Given the description of an element on the screen output the (x, y) to click on. 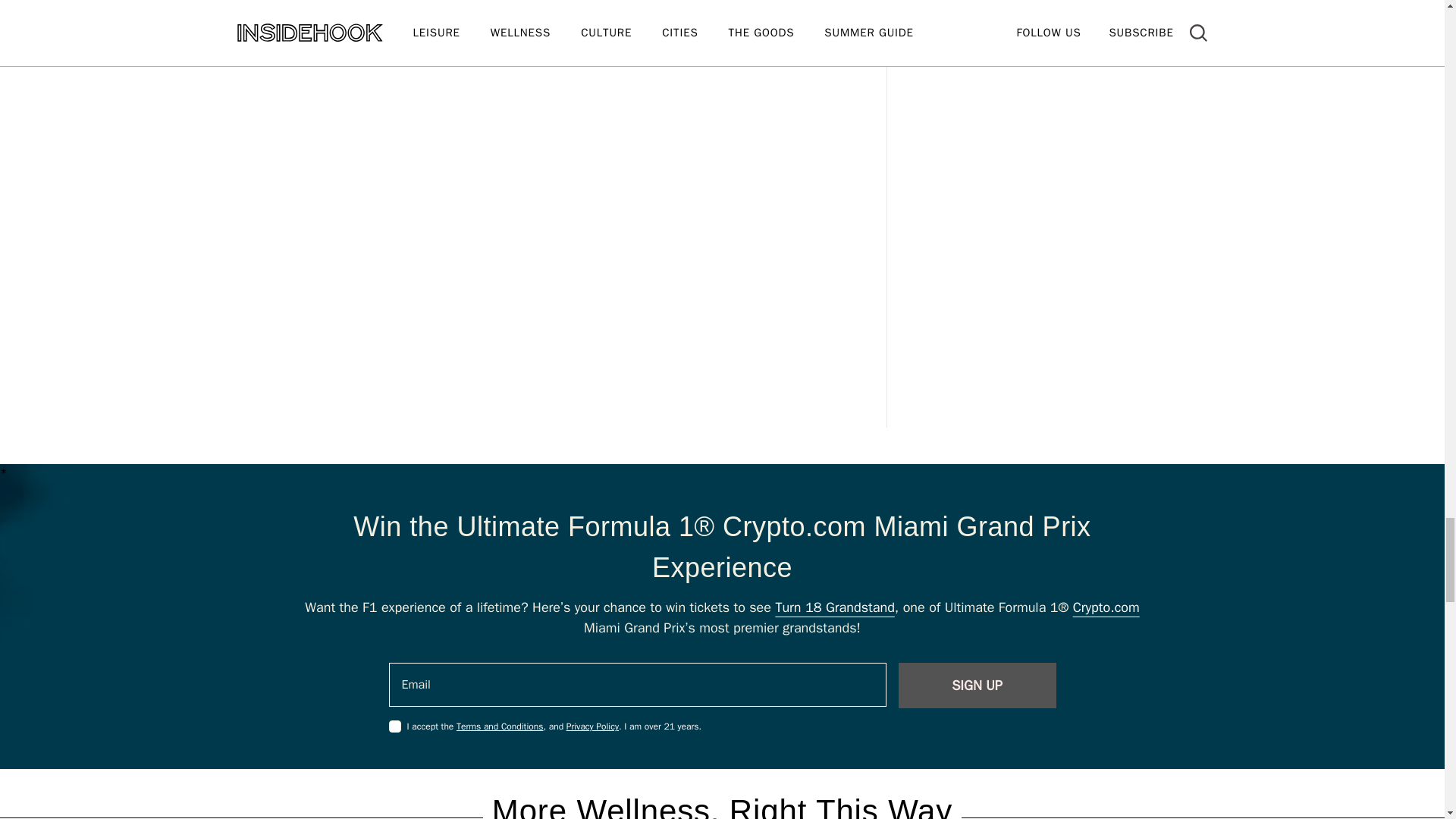
on (394, 726)
